Given the description of an element on the screen output the (x, y) to click on. 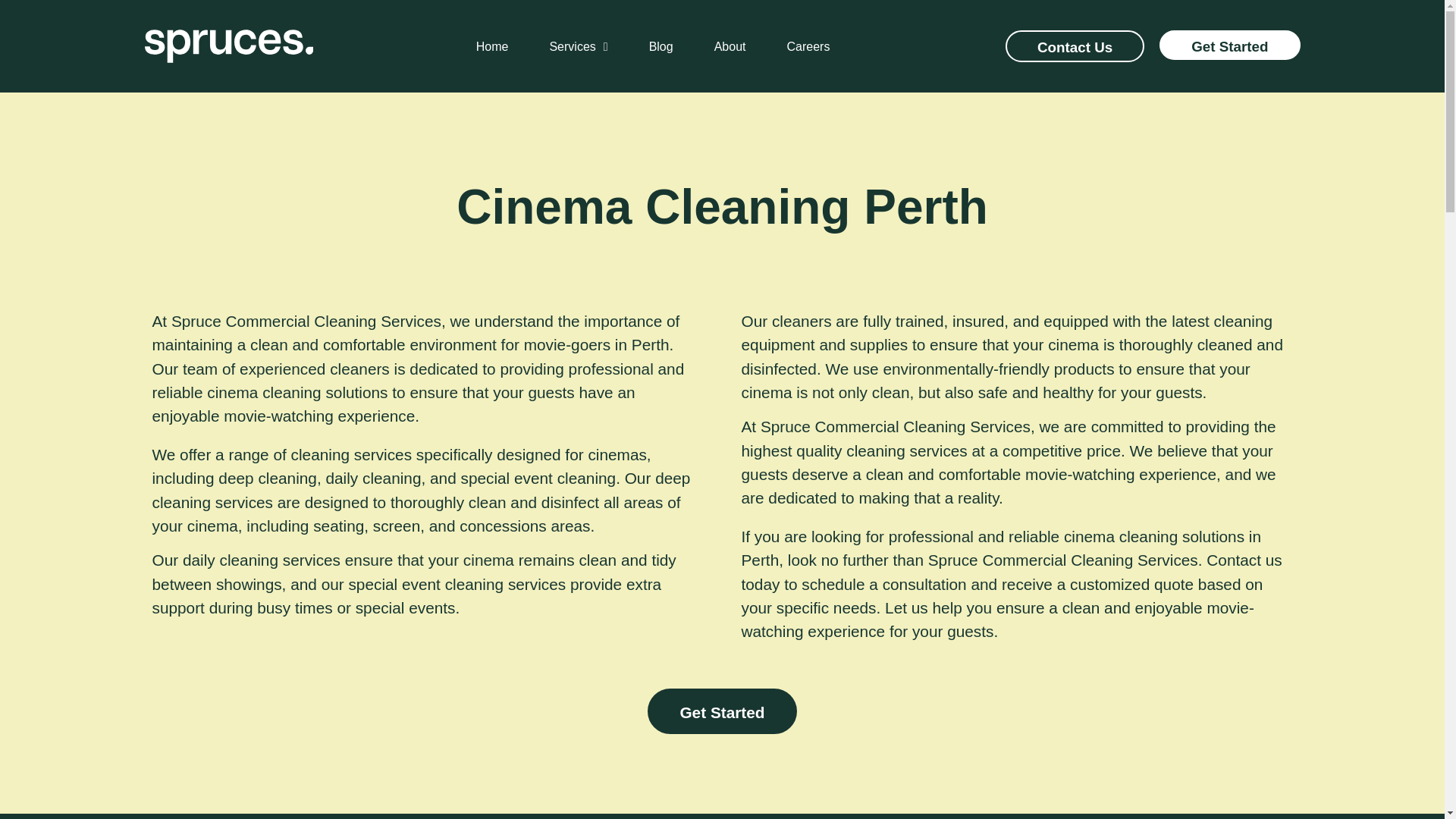
Careers (808, 45)
Blog (660, 45)
Contact Us (1075, 46)
Services (577, 45)
Get Started (1229, 45)
cinema cleaning solutions (296, 392)
Get Started (721, 710)
Home (492, 45)
Cinema Cleaning Perth (722, 206)
About (729, 45)
